Given the description of an element on the screen output the (x, y) to click on. 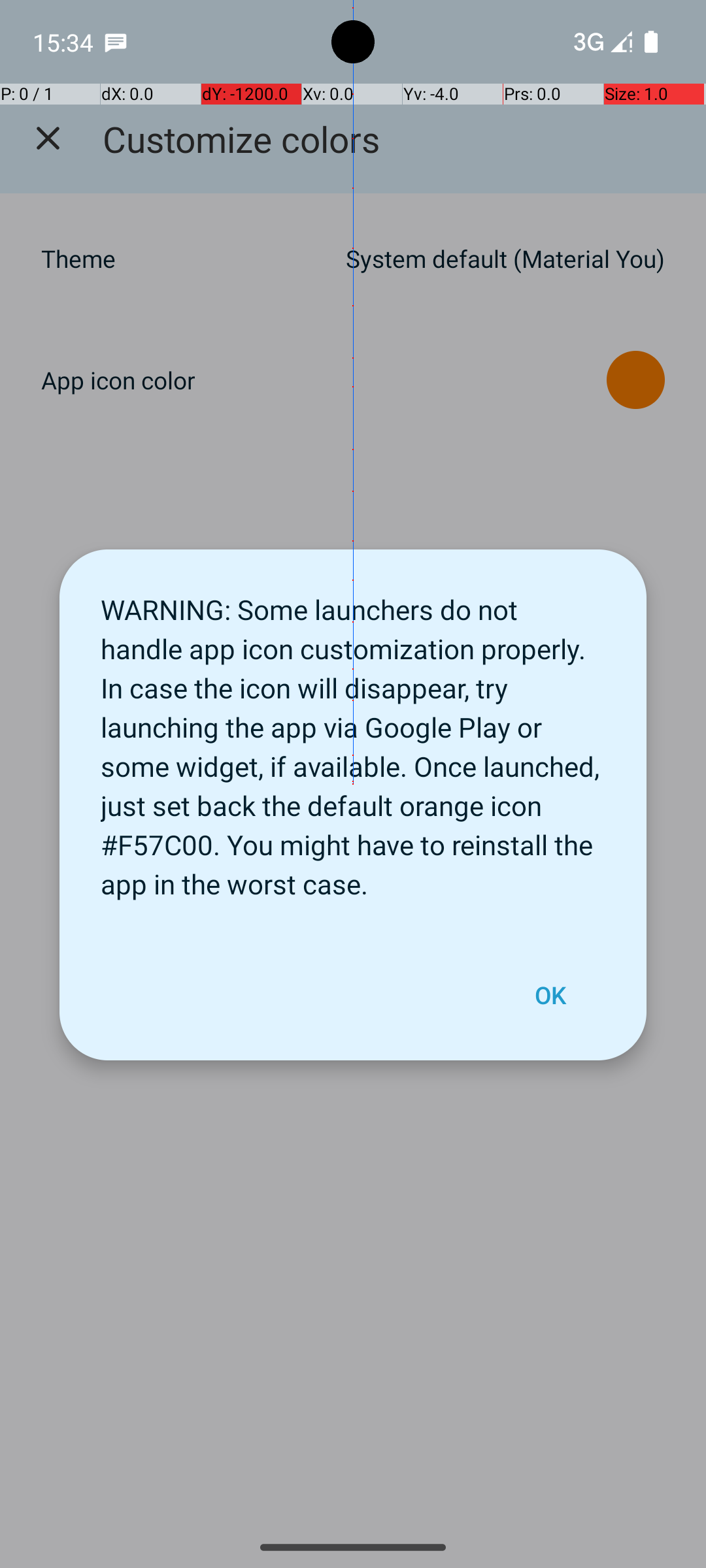
WARNING: Some launchers do not handle app icon customization properly. In case the icon will disappear, try launching the app via Google Play or some widget, if available. Once launched, just set back the default orange icon #F57C00. You might have to reinstall the app in the worst case. Element type: android.widget.TextView (352, 739)
